Given the description of an element on the screen output the (x, y) to click on. 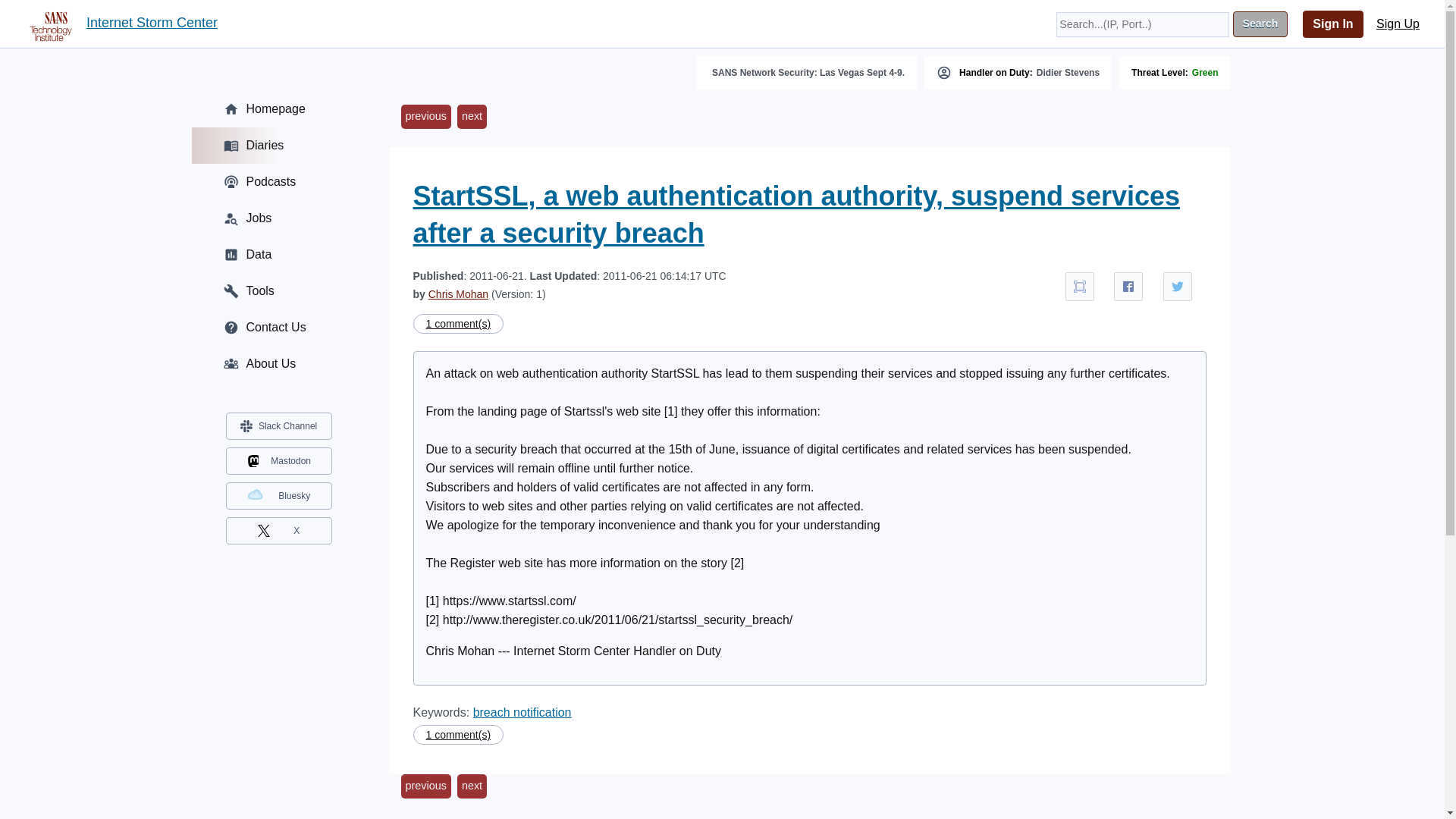
next (471, 116)
previous (424, 116)
Didier Stevens (1067, 72)
Jobs (277, 217)
Full Screen (1079, 286)
Didier Stevens (1067, 72)
Green (1205, 72)
Search (1260, 23)
Chris Mohan (457, 294)
Homepage (277, 108)
